Given the description of an element on the screen output the (x, y) to click on. 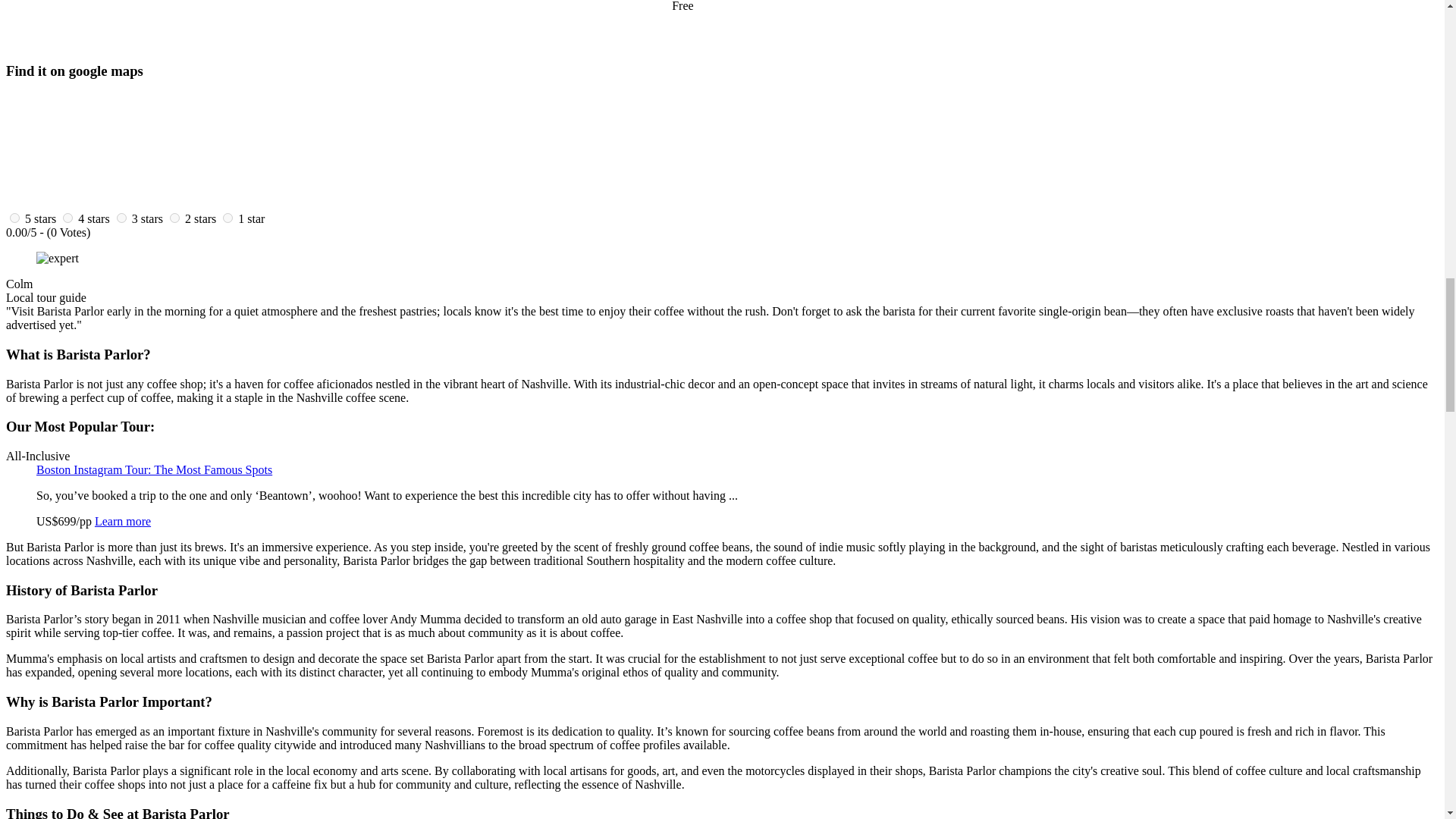
5 stars (40, 218)
3 (121, 217)
3 stars (147, 218)
5 (15, 217)
2 stars (199, 218)
1 stars (251, 218)
2 (174, 217)
1 (227, 217)
4 stars (93, 218)
4 (67, 217)
